Given the description of an element on the screen output the (x, y) to click on. 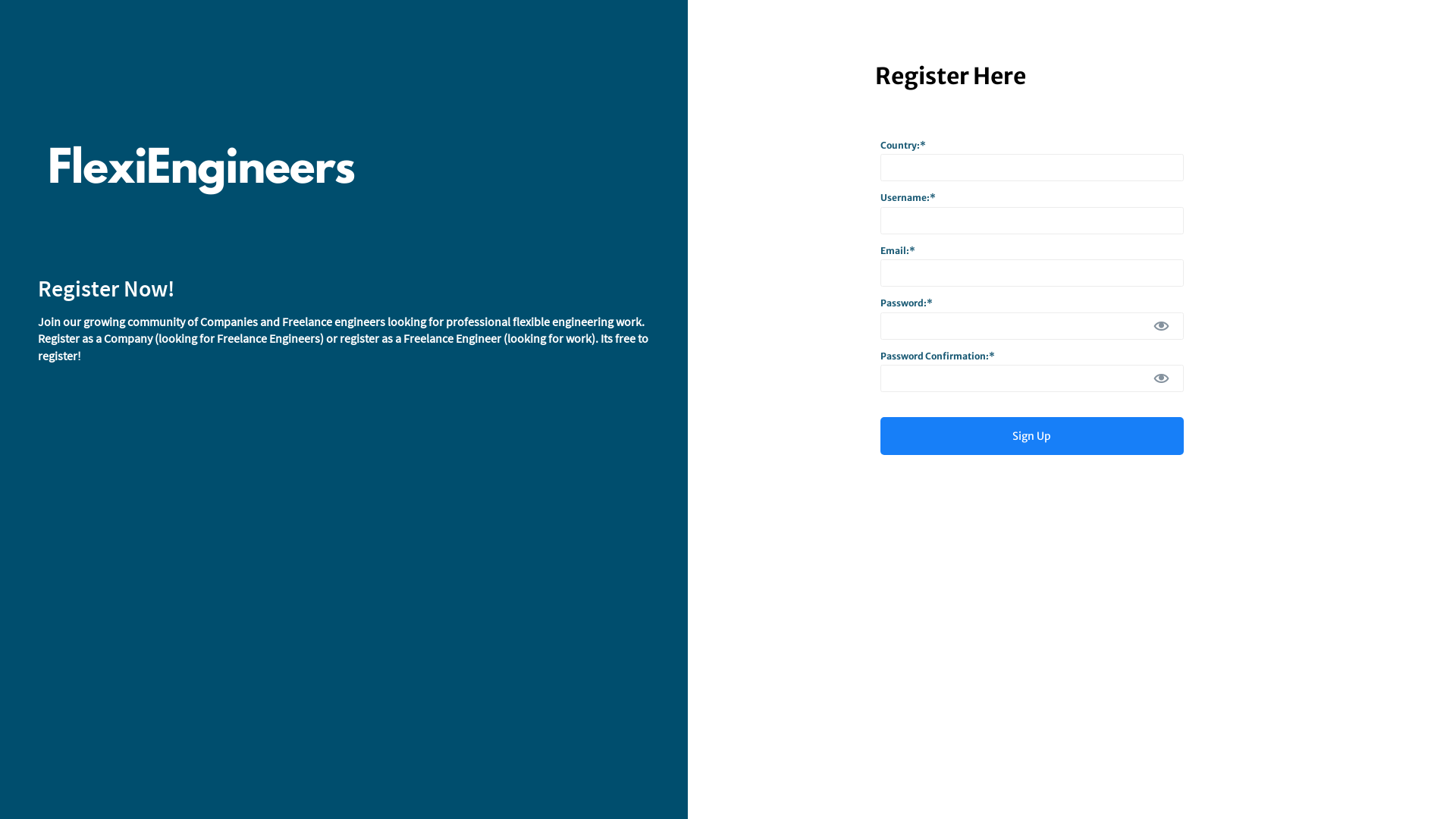
Sign Up Element type: text (1031, 436)
